Given the description of an element on the screen output the (x, y) to click on. 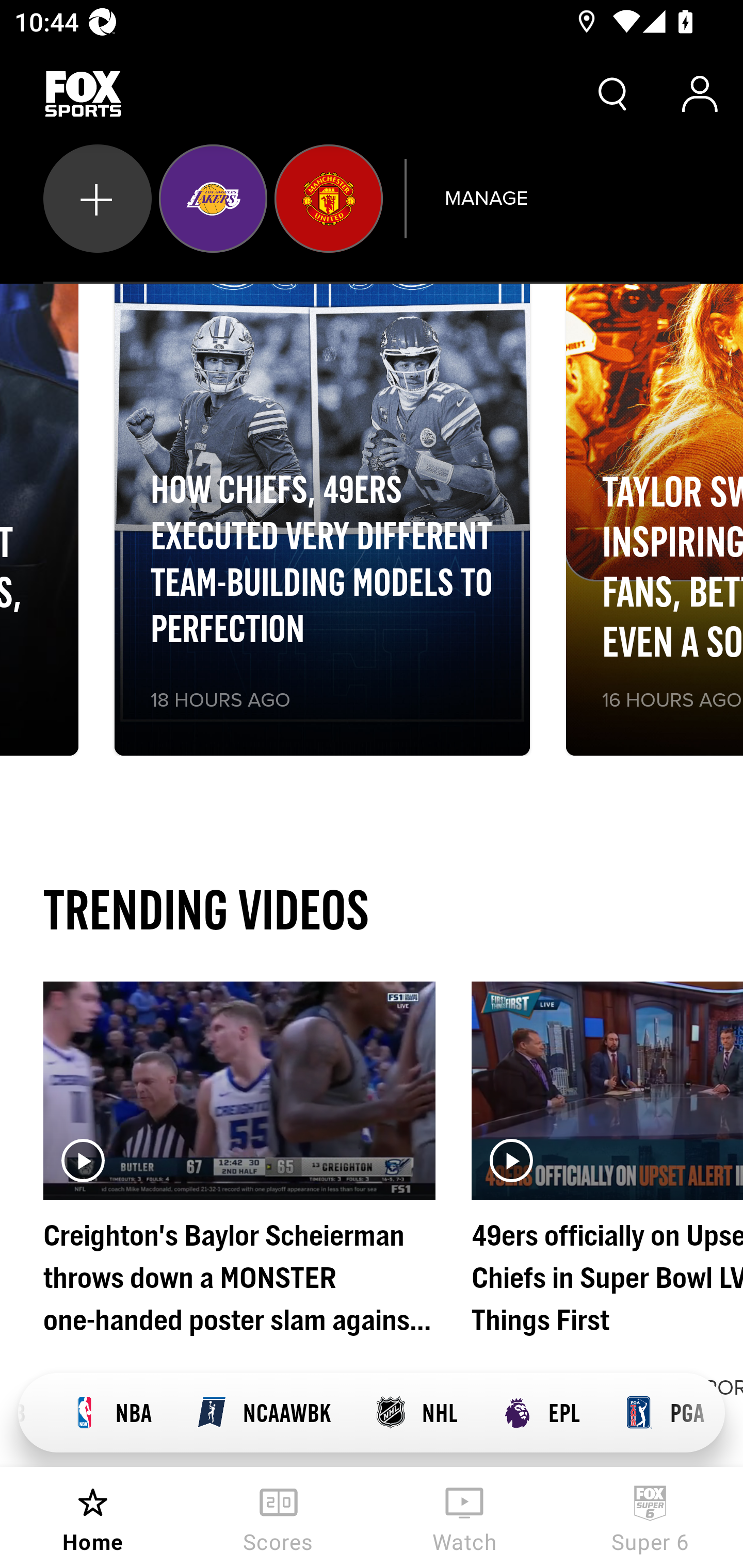
Search (612, 93)
Account (699, 93)
MANAGE (485, 198)
NBA (109, 1412)
NCAAWBK (262, 1412)
NHL (415, 1412)
EPL (540, 1412)
PGA (663, 1412)
Scores (278, 1517)
Watch (464, 1517)
Super 6 (650, 1517)
